Given the description of an element on the screen output the (x, y) to click on. 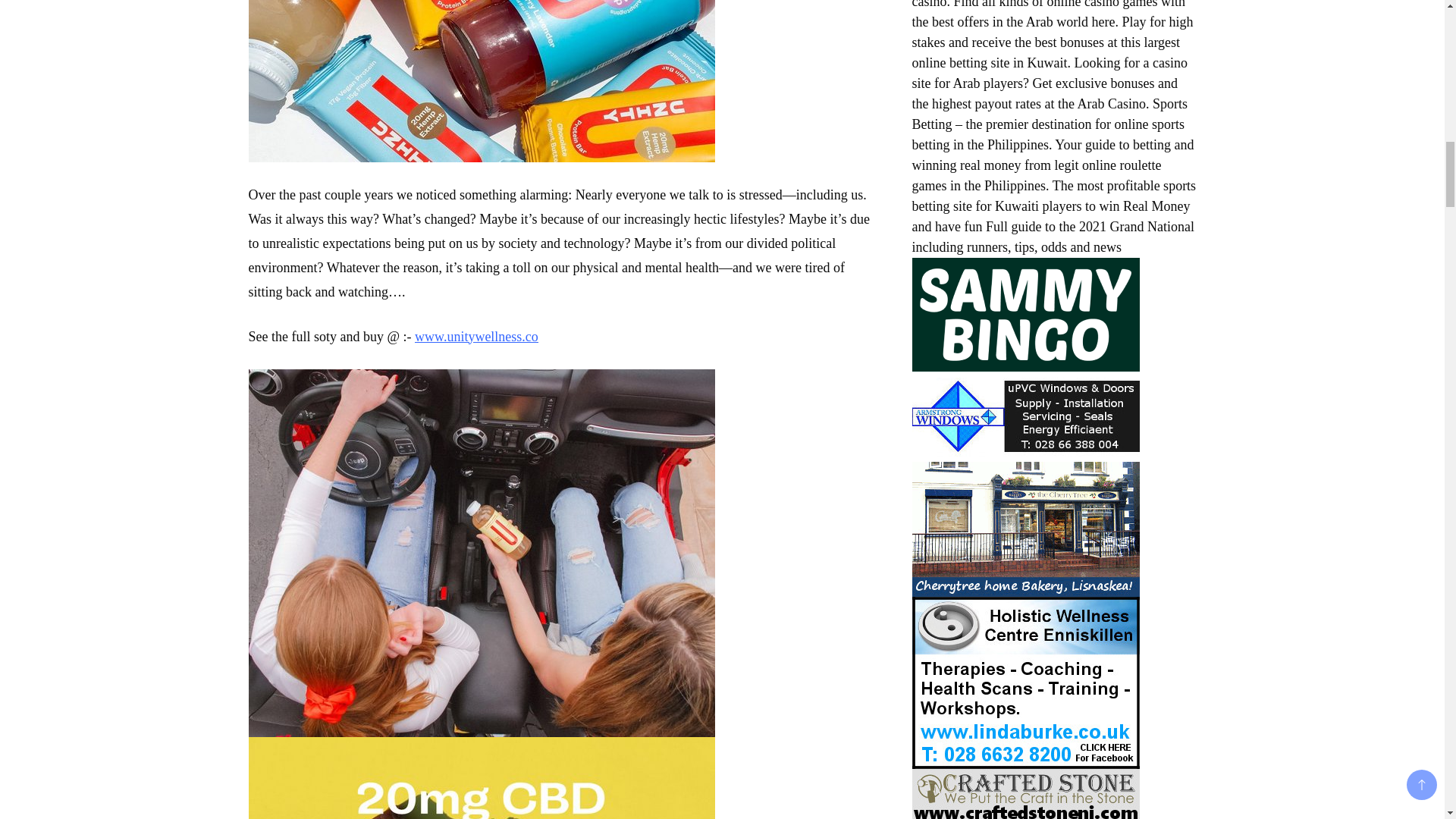
www.unitywellness.co (476, 336)
